Given the description of an element on the screen output the (x, y) to click on. 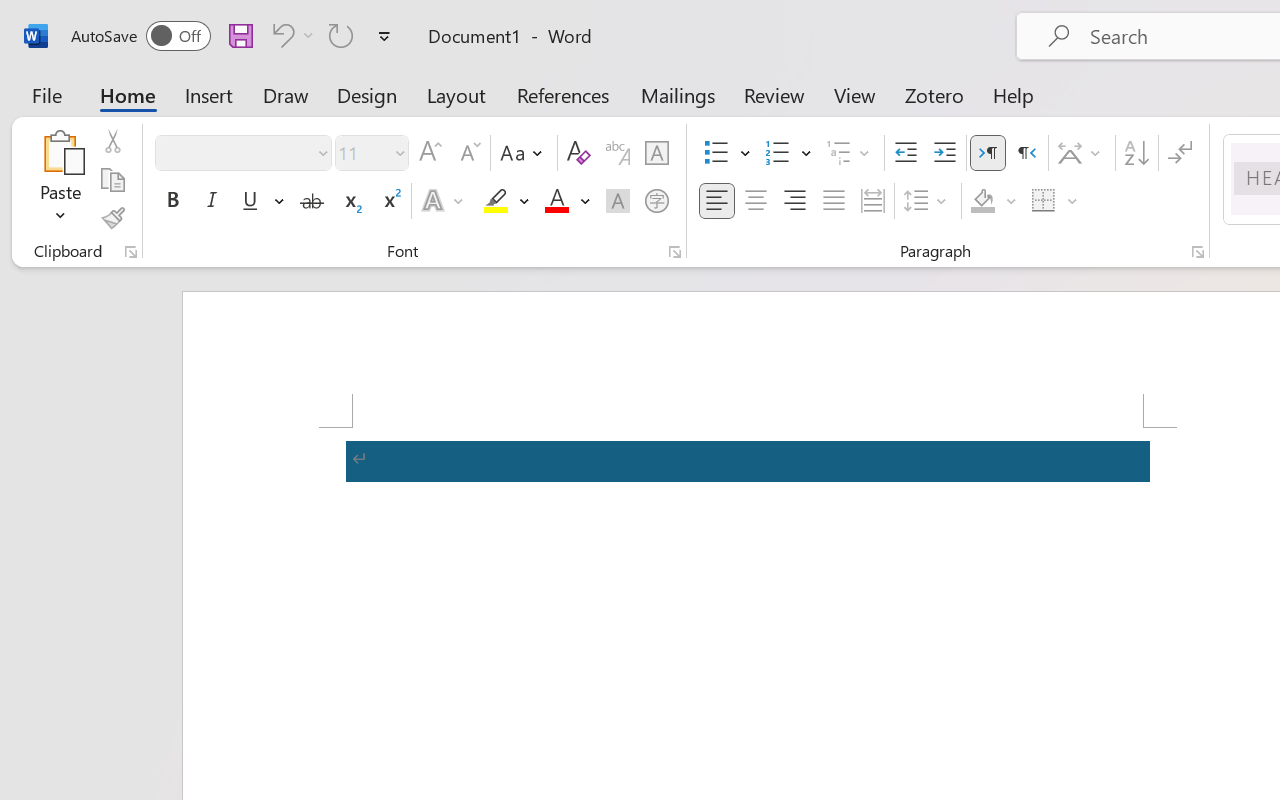
Repeat Accessibility Checker (341, 35)
